Given the description of an element on the screen output the (x, y) to click on. 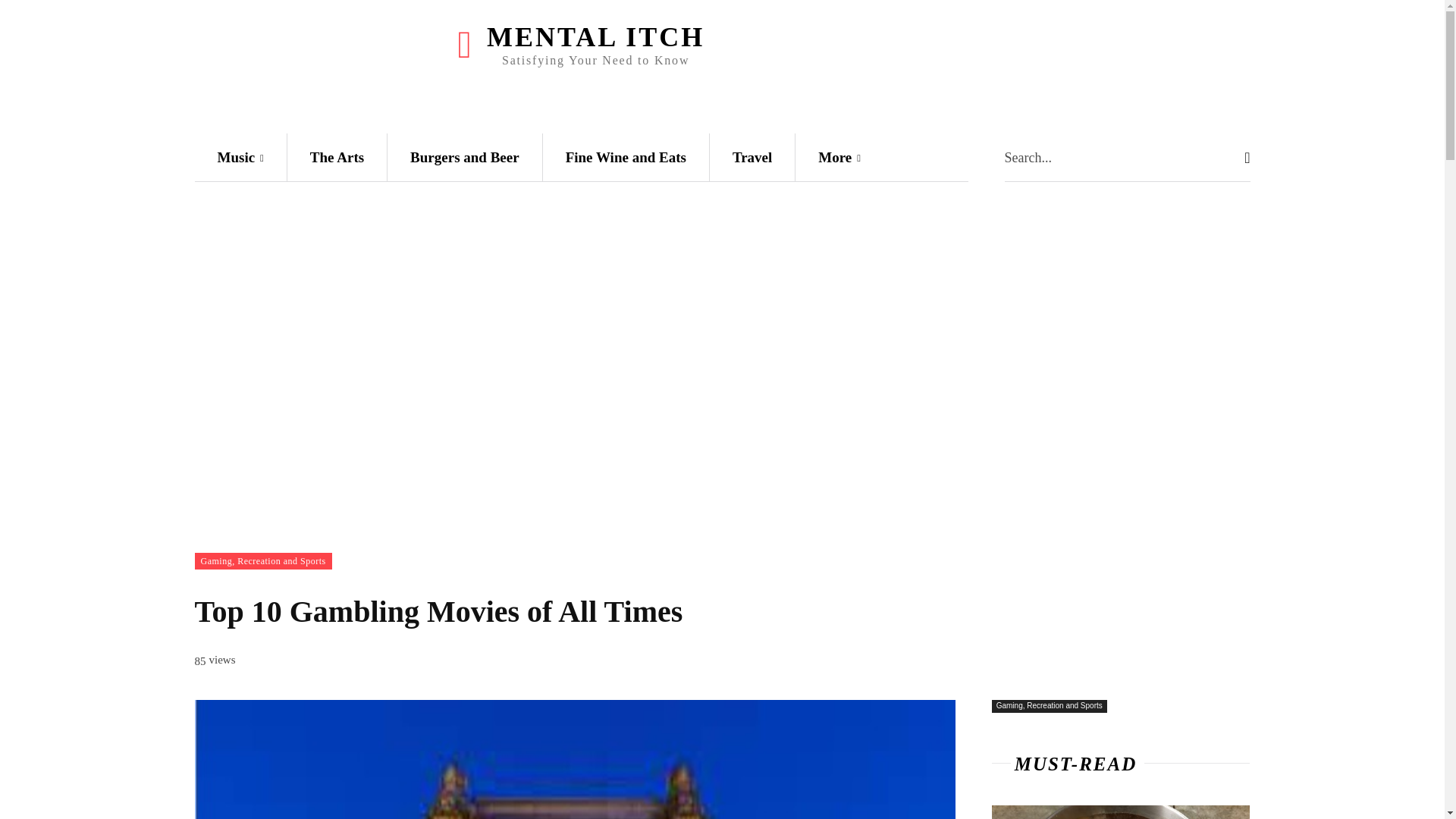
What Is Wort and Why Is It So Important for Beer Brewing? (1120, 812)
Top 10 Gambling Movies of All Times (574, 759)
